Given the description of an element on the screen output the (x, y) to click on. 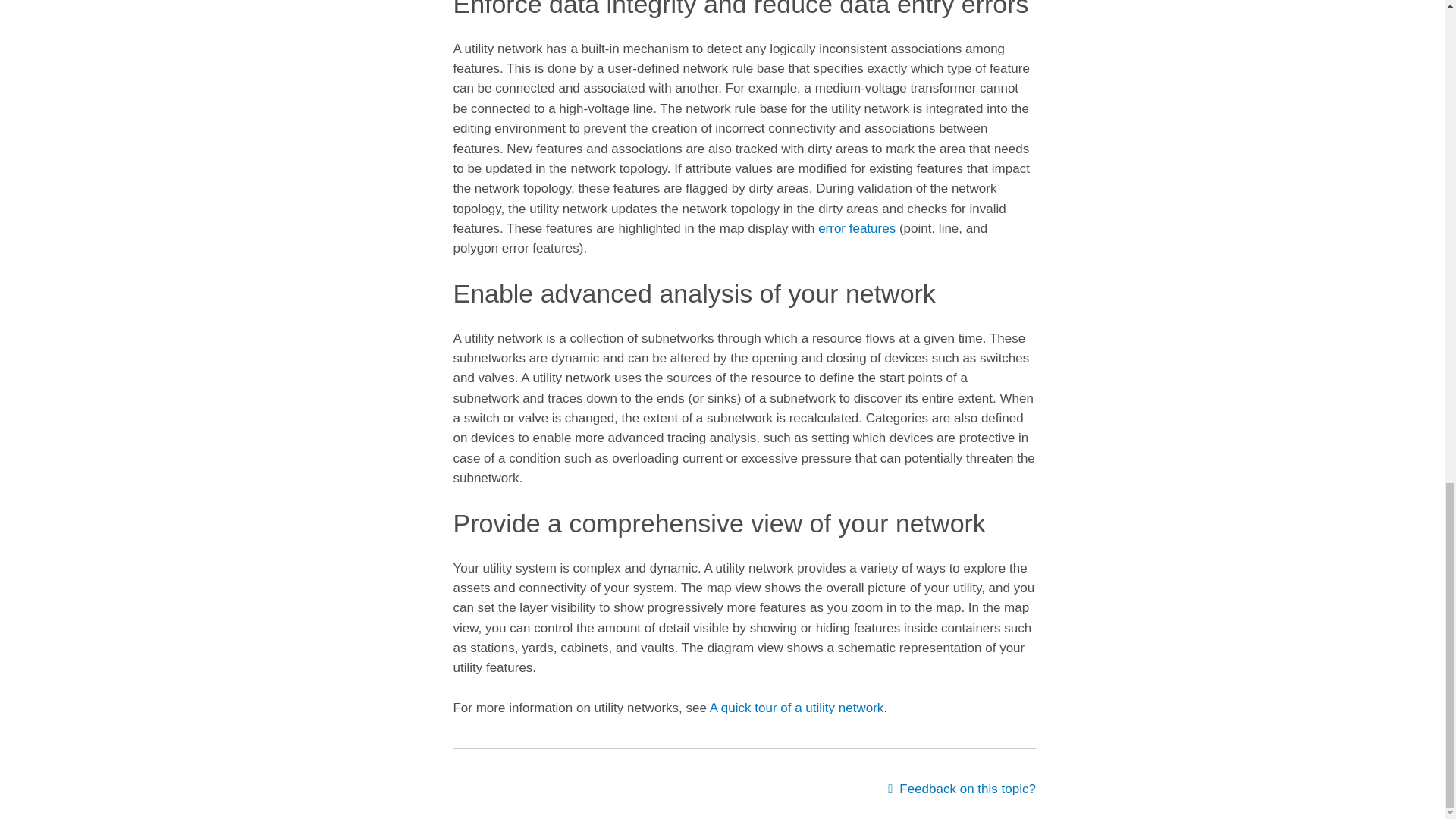
error features (856, 228)
A quick tour of a utility network (796, 707)
Feedback on this topic? (961, 789)
